Given the description of an element on the screen output the (x, y) to click on. 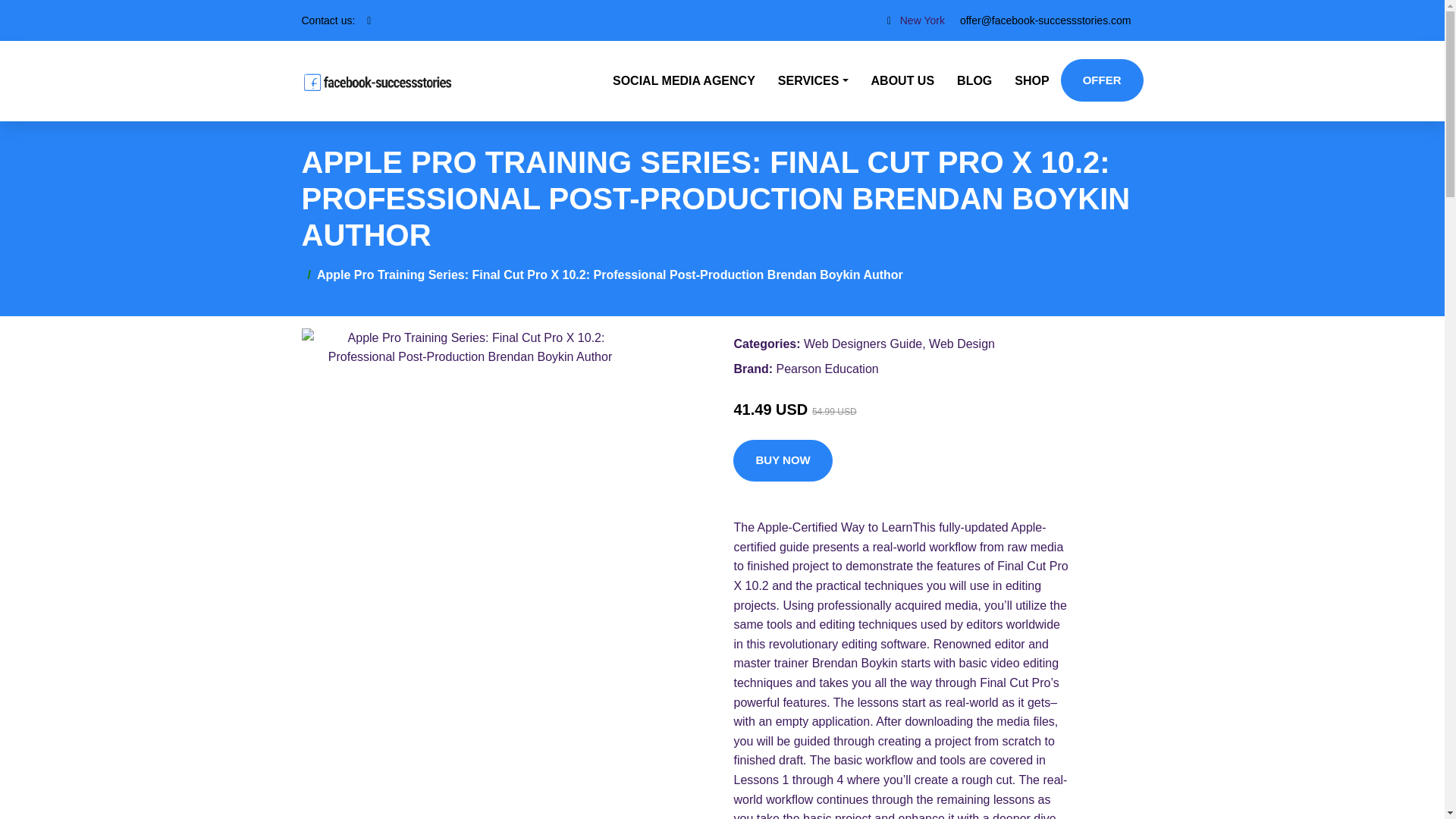
Web Design (961, 343)
SOCIAL MEDIA AGENCY (684, 80)
OFFER (1101, 79)
Web Designers Guide (862, 343)
SERVICES (813, 80)
BUY NOW (782, 460)
ABOUT US (903, 80)
New York (921, 20)
